Given the description of an element on the screen output the (x, y) to click on. 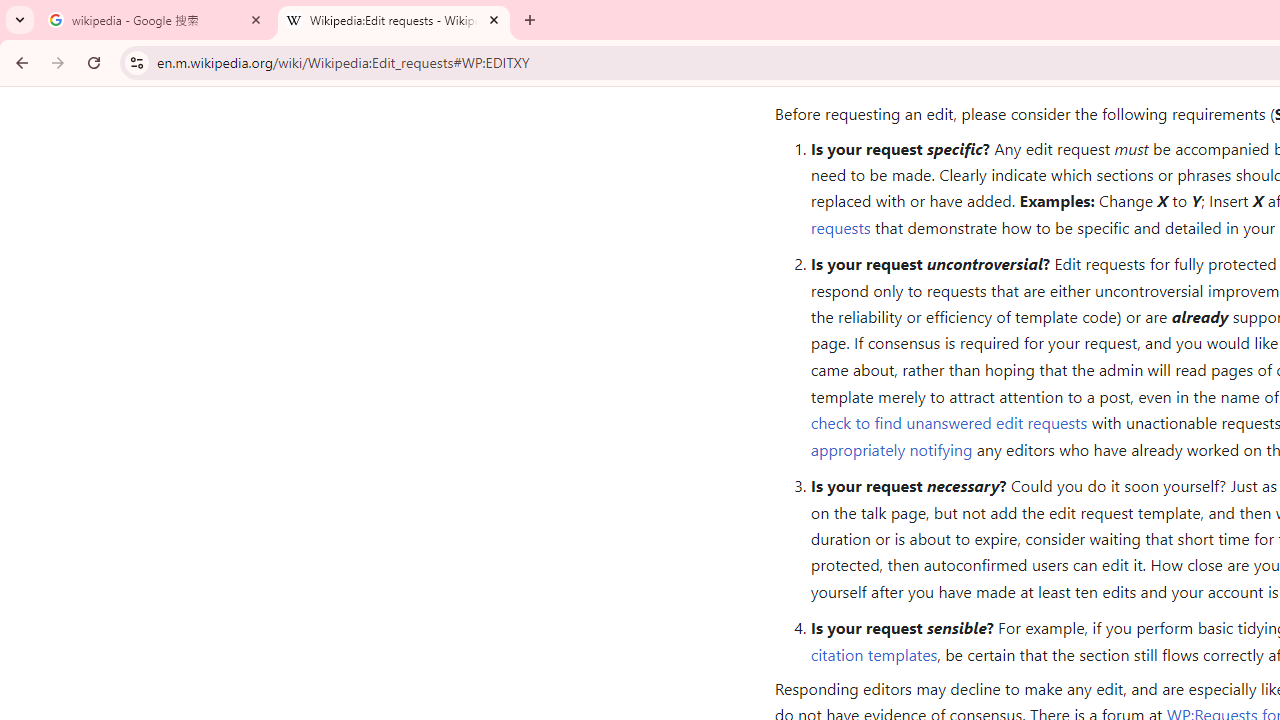
citation templates (874, 653)
Wikipedia:Edit requests - Wikipedia (394, 20)
appropriately notifying (891, 448)
